Given the description of an element on the screen output the (x, y) to click on. 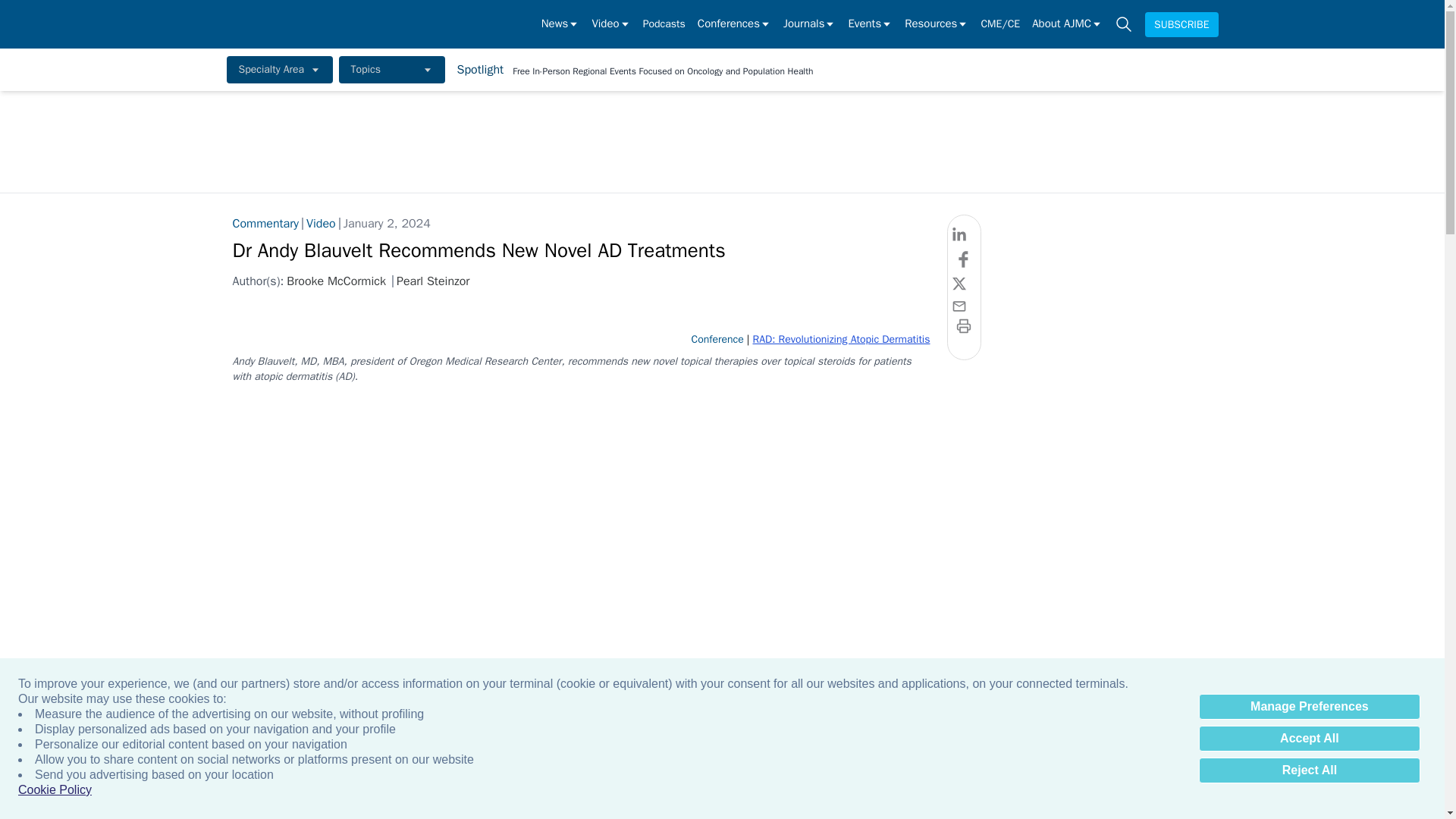
Podcasts (664, 24)
Journals (809, 24)
News (560, 24)
Events (869, 24)
Video (610, 24)
Manage Preferences (1309, 706)
Reject All (1309, 769)
Resources (936, 24)
Accept All (1309, 738)
Cookie Policy (54, 789)
Conferences (734, 24)
